Given the description of an element on the screen output the (x, y) to click on. 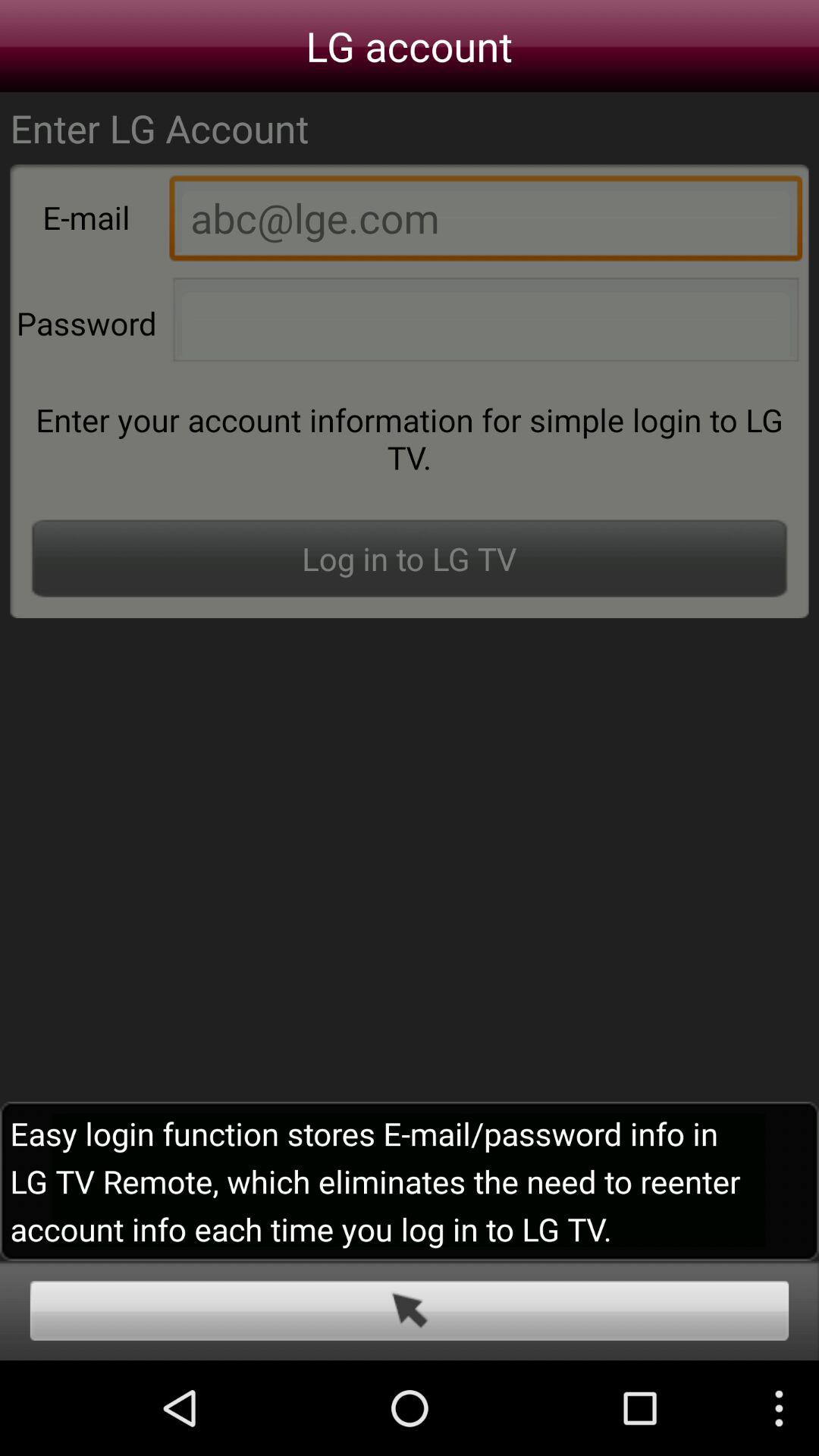
click on the field which is next to password (485, 324)
select the first text field from the web page (485, 221)
click the button on the bottom line of the web page (409, 1310)
